Given the description of an element on the screen output the (x, y) to click on. 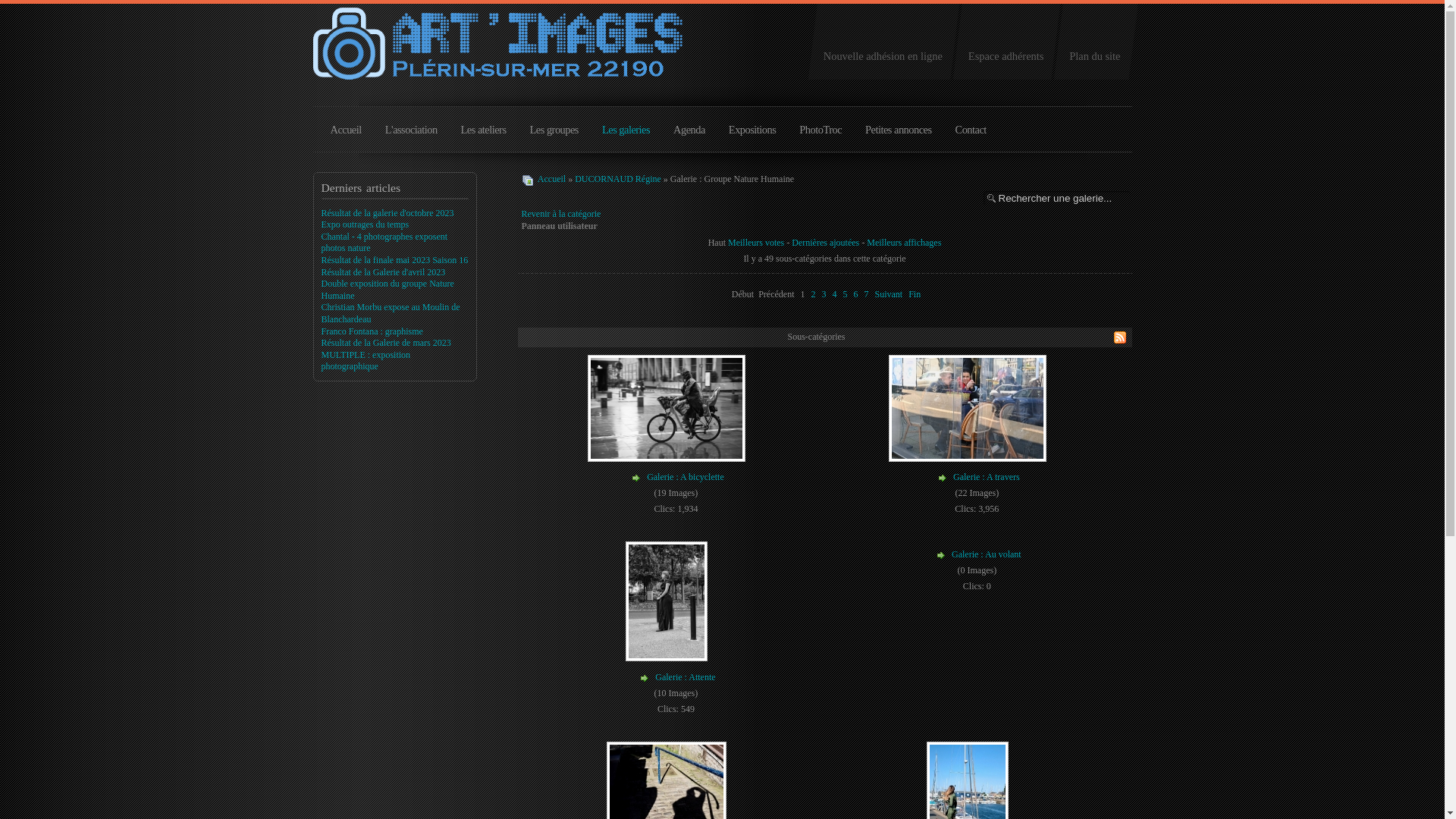
Christian Morbu expose au Moulin de Blanchardeau Element type: text (390, 312)
PhotoTroc Element type: text (820, 134)
Double exposition du groupe Nature Humaine Element type: text (387, 289)
Galerie : A travers Element type: text (986, 476)
Galerie : A travers Element type: hover (968, 456)
L'association Element type: text (411, 134)
Accueil Element type: text (551, 178)
Rechercher une galerie... Element type: hover (1055, 198)
Petites annonces Element type: text (898, 134)
Les groupes Element type: text (554, 134)
Les ateliers Element type: text (483, 134)
3 Element type: text (823, 294)
Les galeries Element type: text (625, 134)
MULTIPLE : exposition photographique Element type: text (366, 360)
Galerie : A bicyclette Element type: text (685, 476)
Expositions Element type: text (751, 134)
Galerie : Attente Element type: hover (667, 657)
Expo outrages du temps Element type: text (365, 224)
Galerie : A bicyclette Element type: hover (667, 456)
Meilleurs affichages Element type: text (903, 242)
6 Element type: text (855, 294)
Chantal - 4 photographes exposent photos nature Element type: text (384, 242)
Plan du site Element type: text (1095, 42)
Franco Fontana : graphisme Element type: text (372, 331)
4 Element type: text (833, 294)
Accueil Element type: text (345, 134)
Galerie : Attente Element type: text (685, 676)
Fin Element type: text (914, 294)
7 Element type: text (865, 294)
Suivant Element type: text (887, 294)
5 Element type: text (844, 294)
Galerie : Au volant Element type: text (986, 554)
Meilleurs votes Element type: text (756, 242)
Contact Element type: text (970, 134)
2 Element type: text (812, 294)
Agenda Element type: text (689, 134)
